Given the description of an element on the screen output the (x, y) to click on. 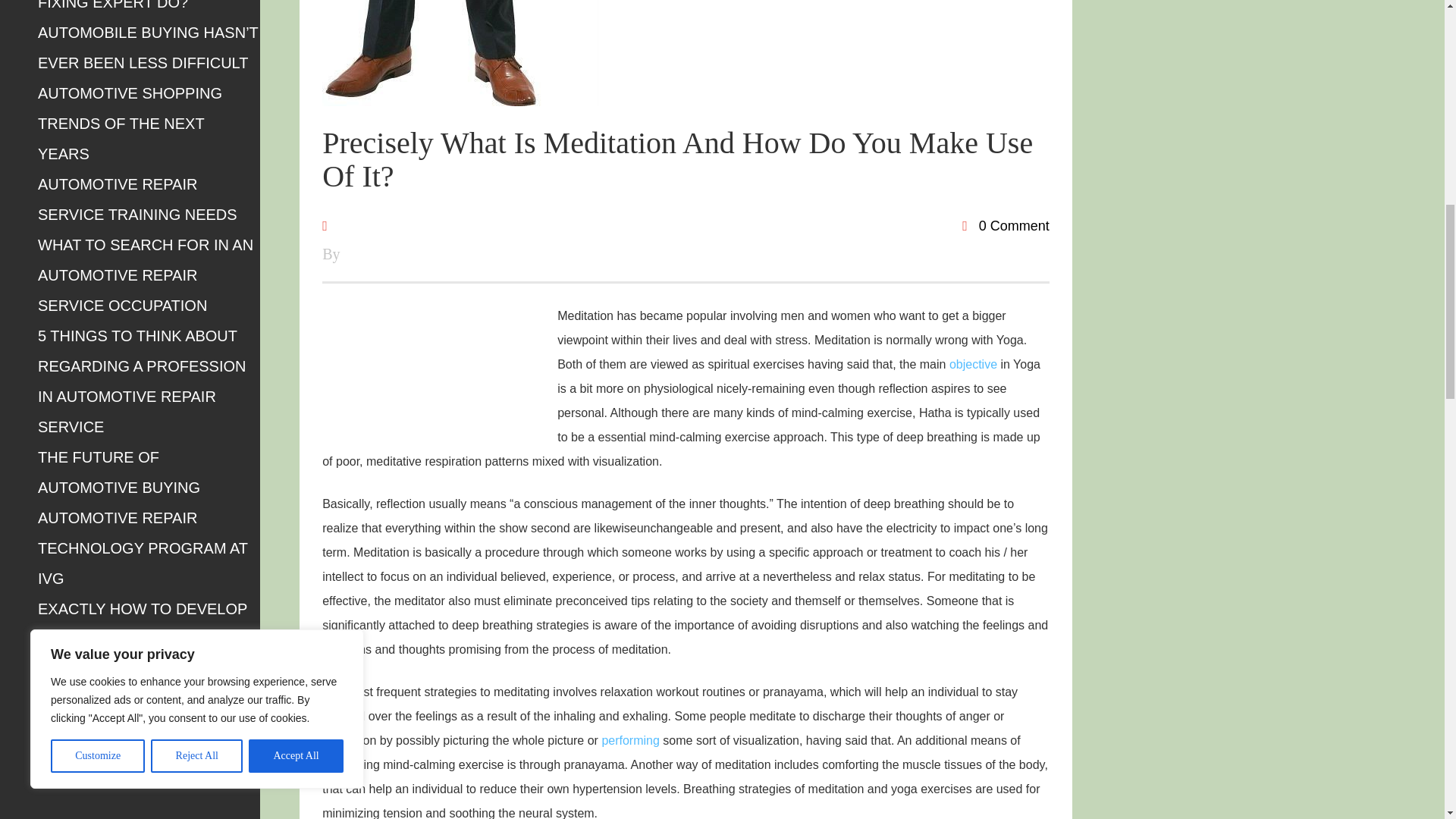
performing (630, 739)
0 Comment (1005, 225)
objective (973, 364)
